Given the description of an element on the screen output the (x, y) to click on. 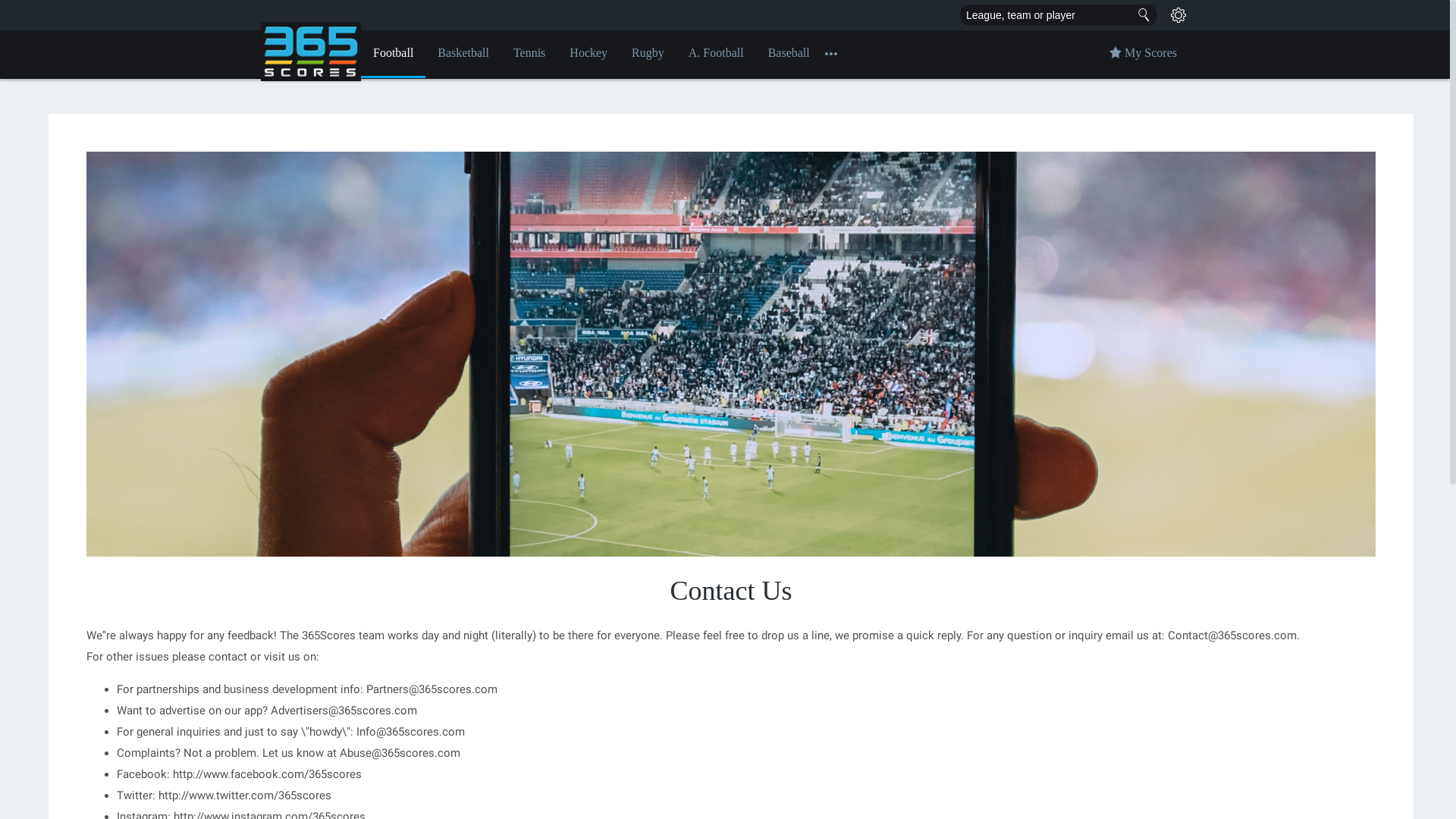
Baseball Element type: text (789, 54)
Abuse@365scores.com Element type: text (399, 752)
My Scores Element type: text (1143, 54)
Football Element type: text (392, 54)
Basketball Element type: text (463, 54)
http://www.facebook.com/365scores Element type: text (266, 774)
Info@365scores.com Element type: text (410, 731)
A. Football Element type: text (716, 54)
http://www.twitter.com/365scores Element type: text (244, 795)
Contact@365scores.com Element type: text (1231, 635)
Tennis Element type: text (529, 54)
Partners@365scores.com Element type: text (431, 689)
Rugby Element type: text (647, 54)
Hockey Element type: text (588, 54)
Advertisers@365scores.com Element type: text (343, 710)
